Given the description of an element on the screen output the (x, y) to click on. 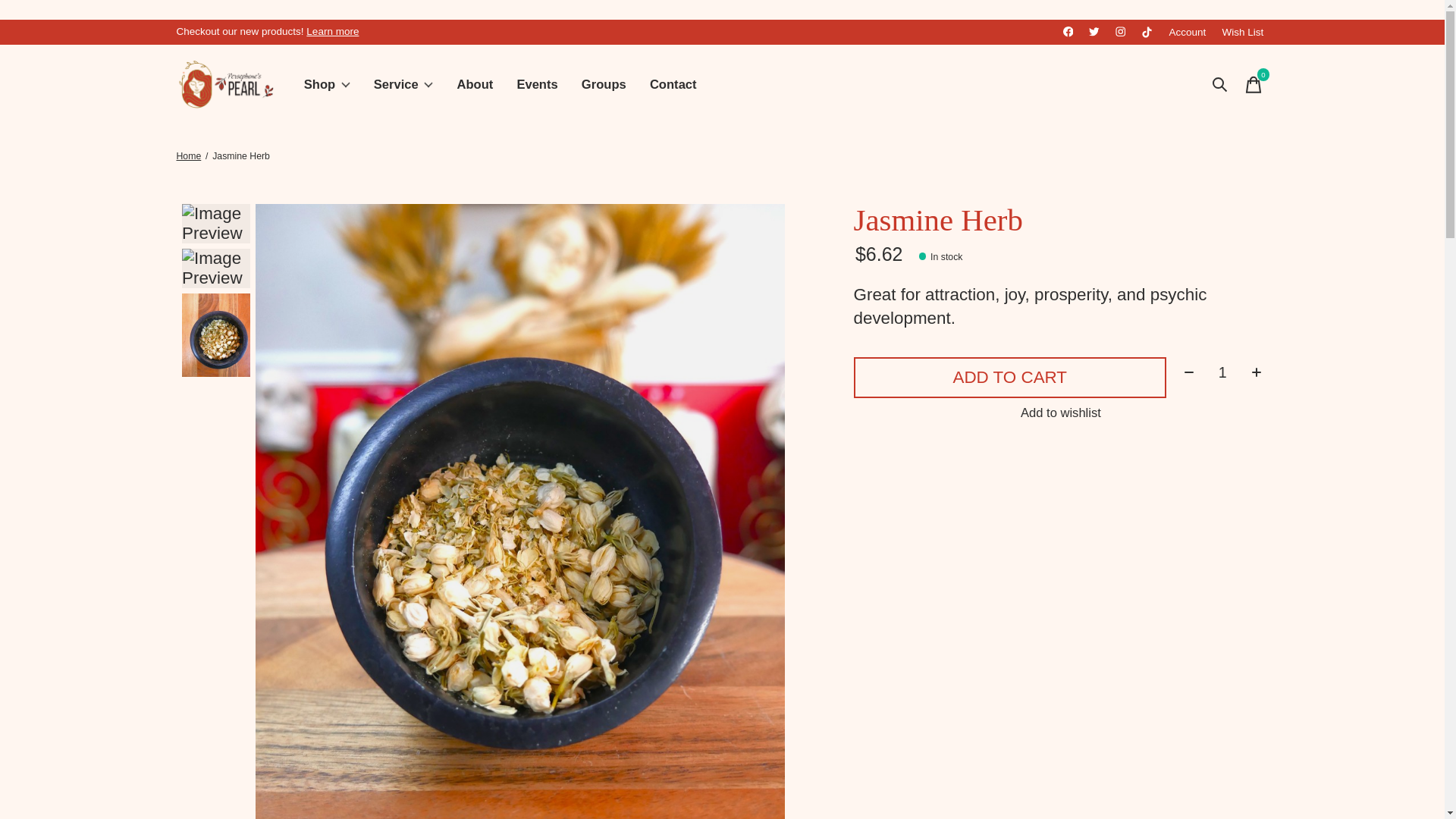
Wish List (1242, 32)
1 (1252, 84)
Service (1222, 372)
Account (780, 84)
Learn more (403, 84)
